Given the description of an element on the screen output the (x, y) to click on. 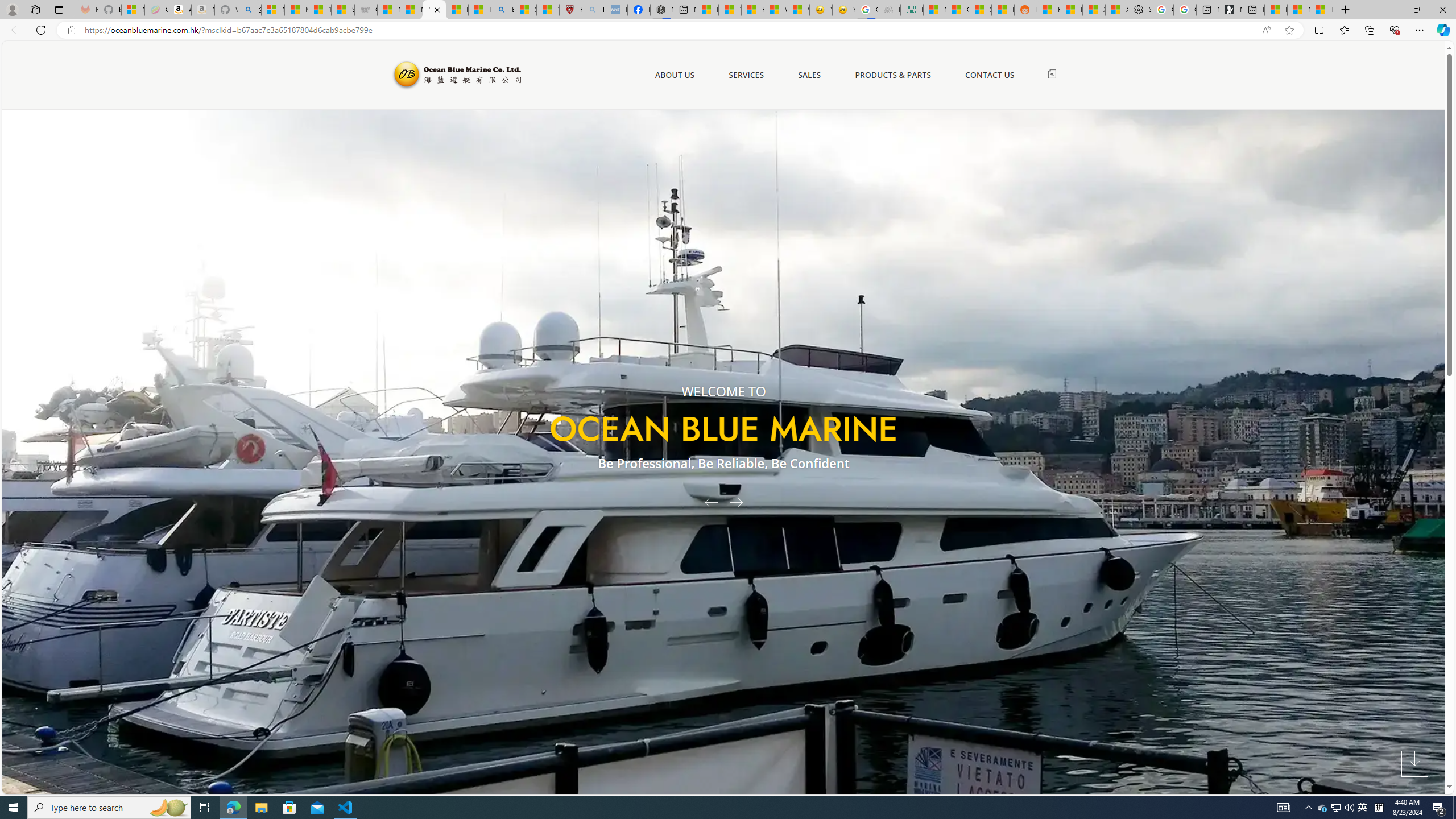
CONTACT US (989, 75)
Bing (502, 9)
R******* | Trusted Community Engagement and Contributions (1048, 9)
ABOUT US (674, 74)
Nordace - Nordace Siena Is Not An Ordinary Backpack (661, 9)
